Given the description of an element on the screen output the (x, y) to click on. 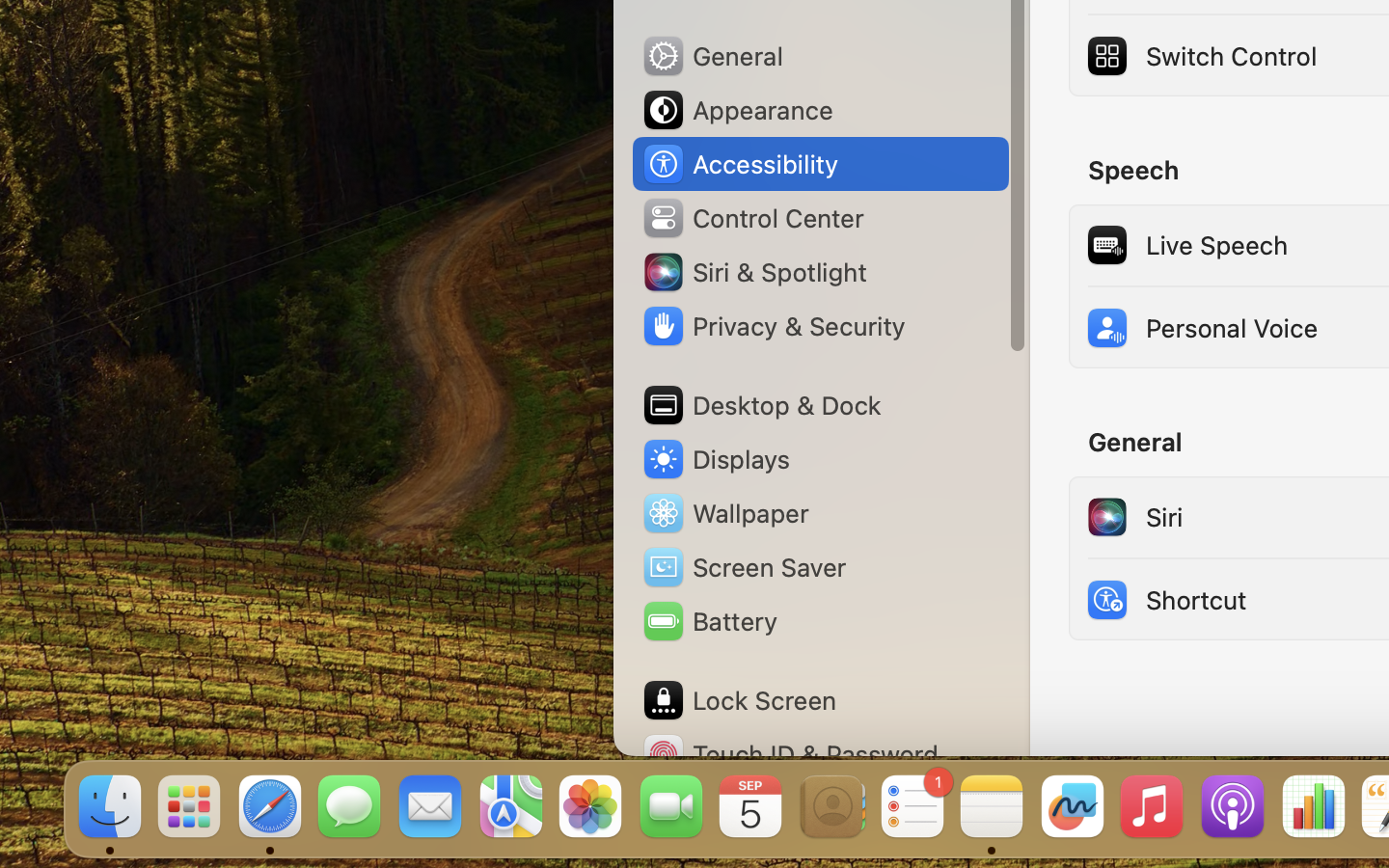
Siri & Spotlight Element type: AXStaticText (753, 271)
Accessibility Element type: AXStaticText (739, 163)
Control Center Element type: AXStaticText (752, 217)
